Given the description of an element on the screen output the (x, y) to click on. 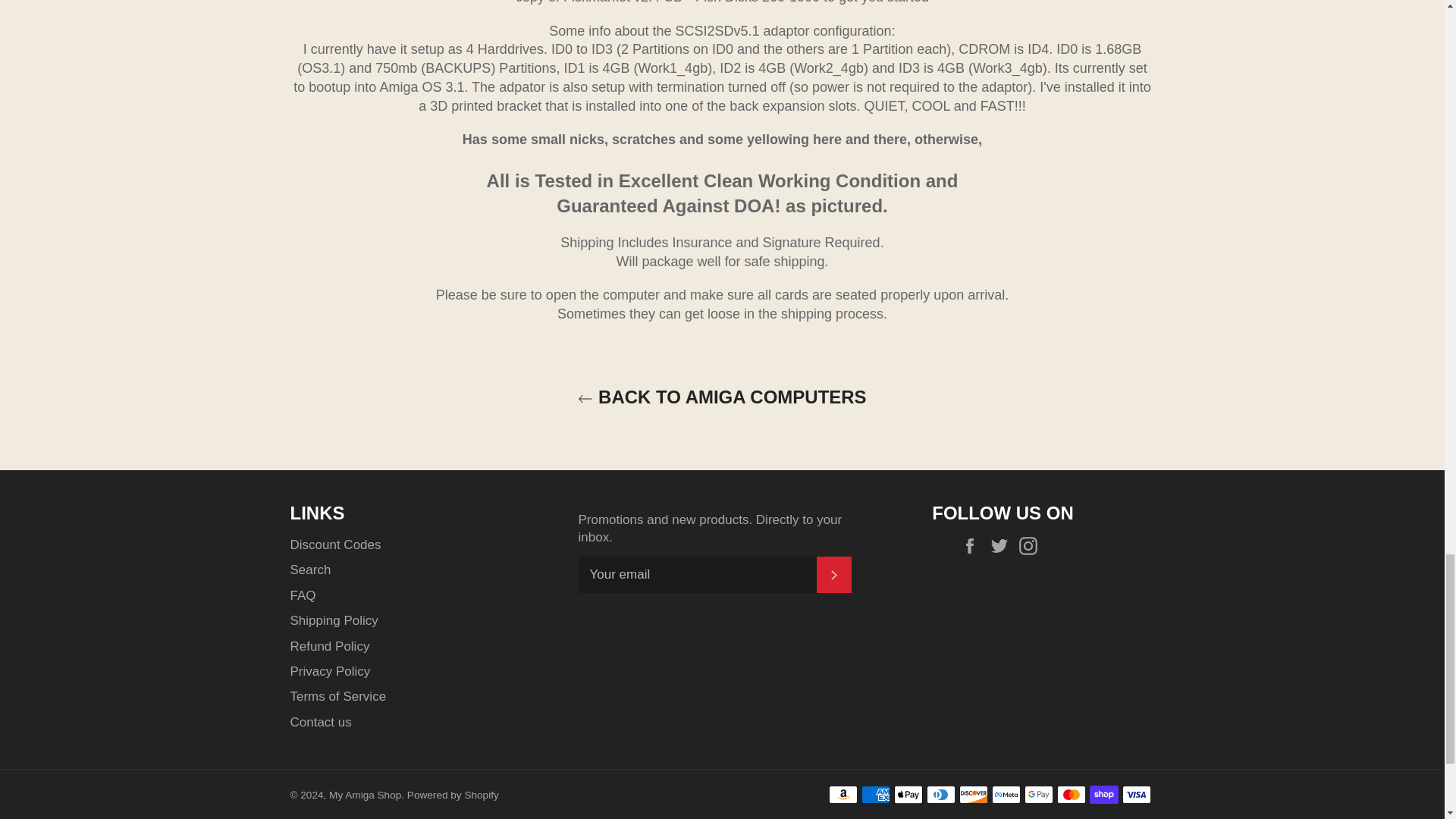
My Amiga Shop on Facebook (973, 545)
My Amiga Shop on Instagram (1032, 545)
My Amiga Shop on Twitter (1003, 545)
